Given the description of an element on the screen output the (x, y) to click on. 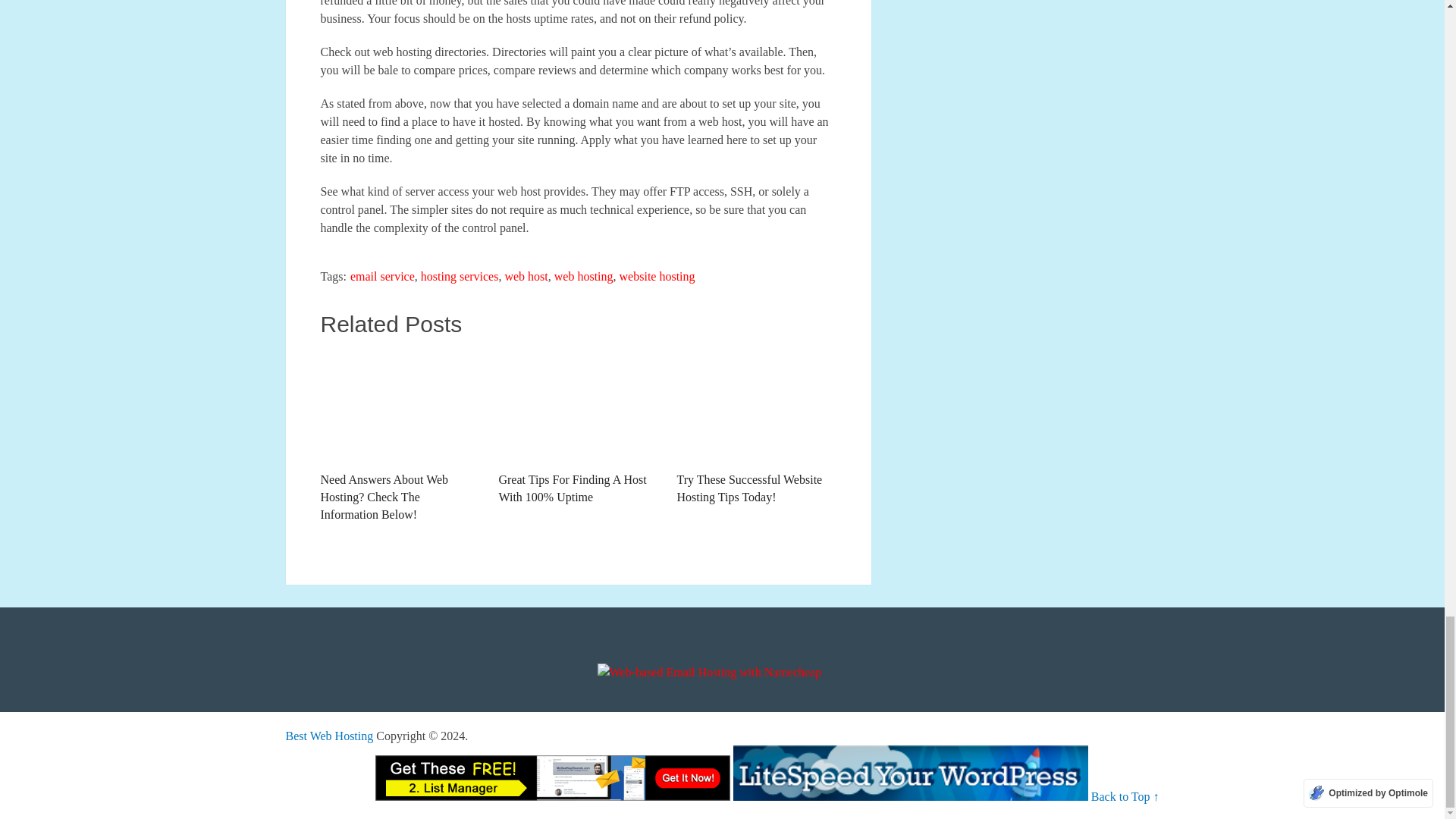
website hosting (657, 276)
hosting services (459, 276)
web hosting (583, 276)
Get the best hosts! (328, 735)
Need Answers About Web Hosting? Check The Information Below! (399, 436)
Try These Successful Website Hosting Tips Today! (756, 427)
web host (525, 276)
Try These Successful Website Hosting Tips Today! (756, 406)
Need Answers About Web Hosting? Check The Information Below! (399, 436)
email service (382, 276)
Try These Successful Website Hosting Tips Today! (756, 427)
